Given the description of an element on the screen output the (x, y) to click on. 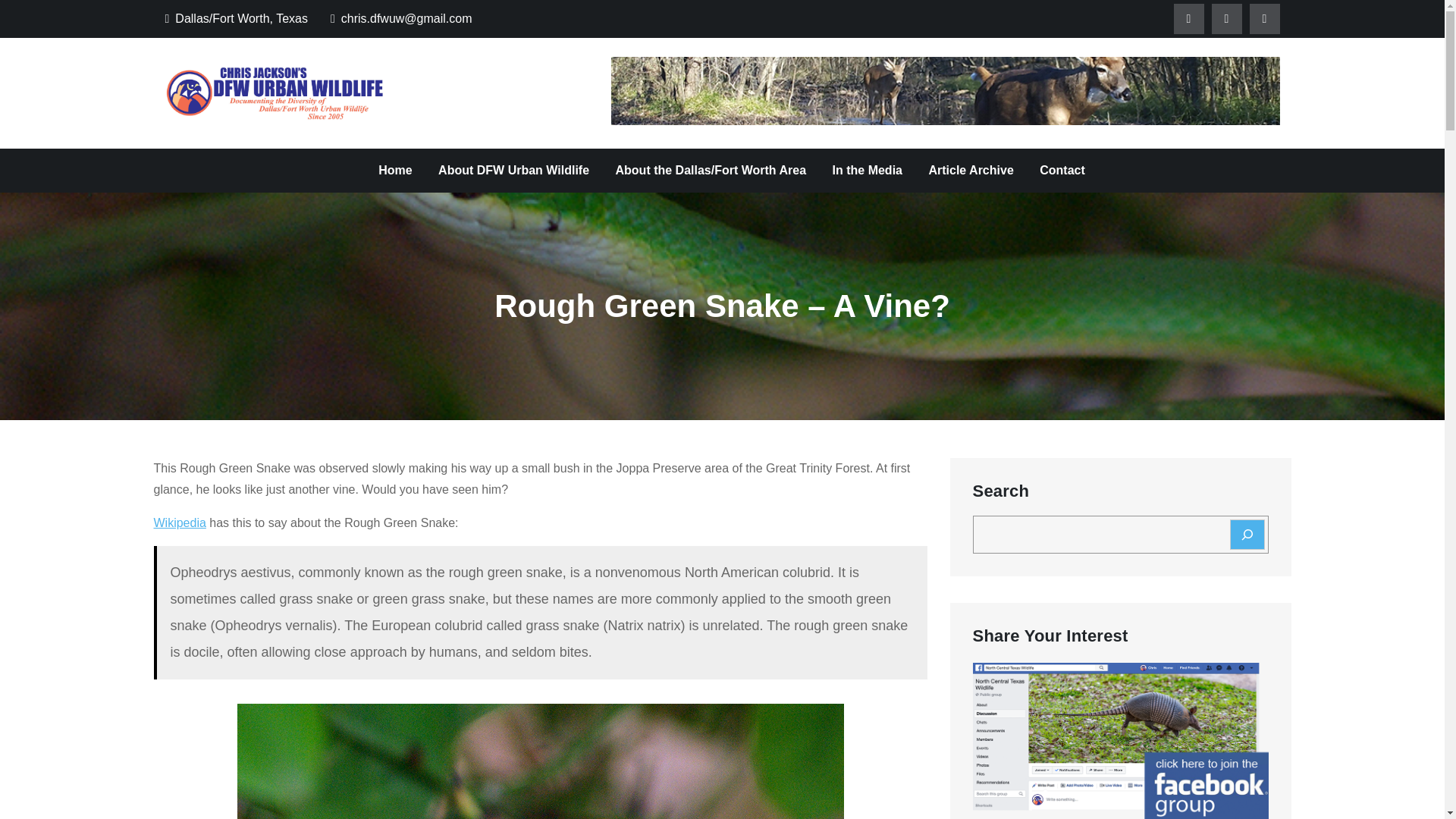
Home (394, 170)
Wikipedia (178, 522)
In the Media (867, 170)
About DFW Urban Wildlife (512, 170)
Contact (1061, 170)
DFW Urban Wildlife (509, 108)
Article Archive (971, 170)
